Given the description of an element on the screen output the (x, y) to click on. 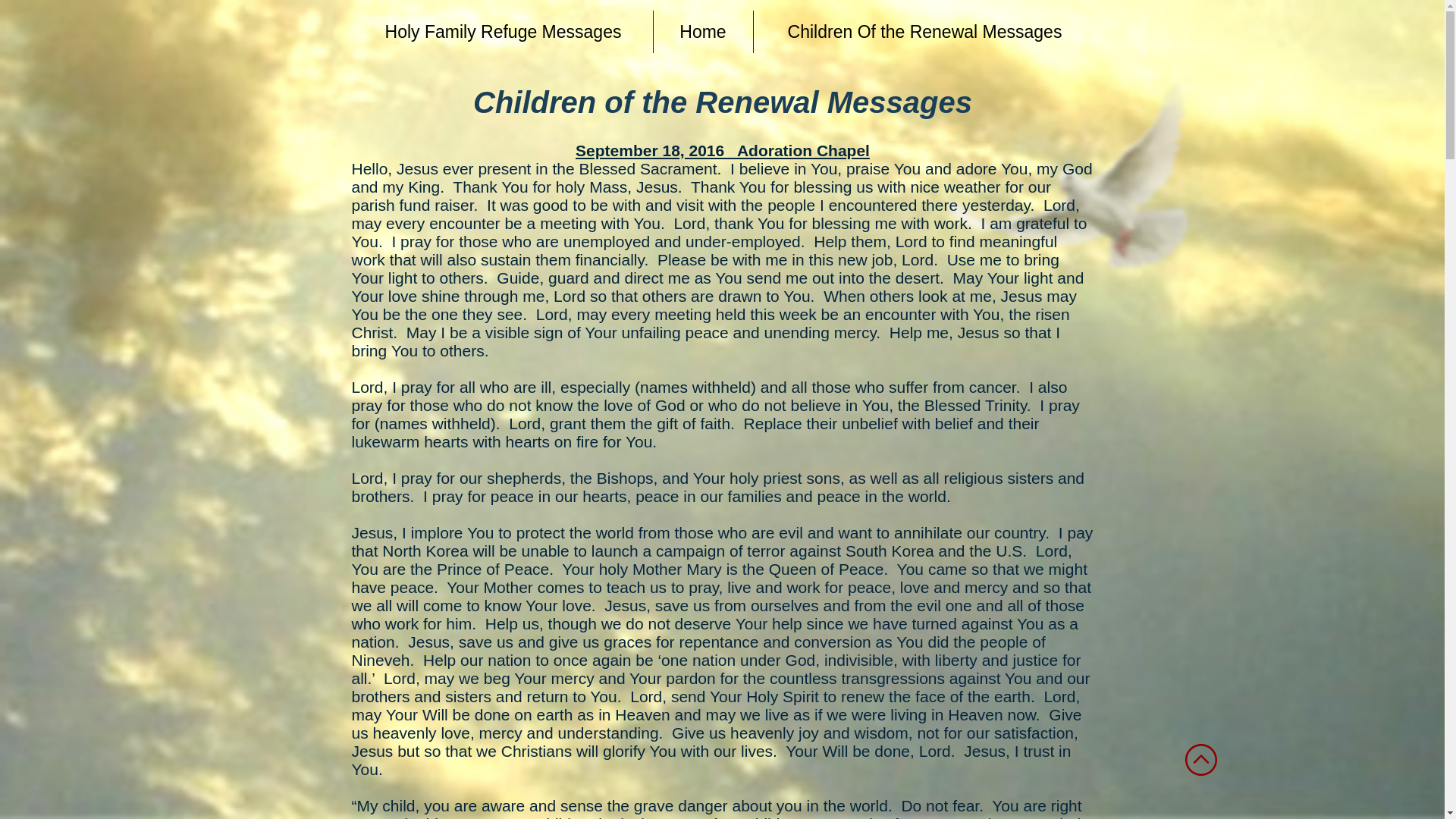
Holy Family Refuge Messages (502, 31)
Home (702, 31)
Children Of the Renewal Messages (925, 31)
